Given the description of an element on the screen output the (x, y) to click on. 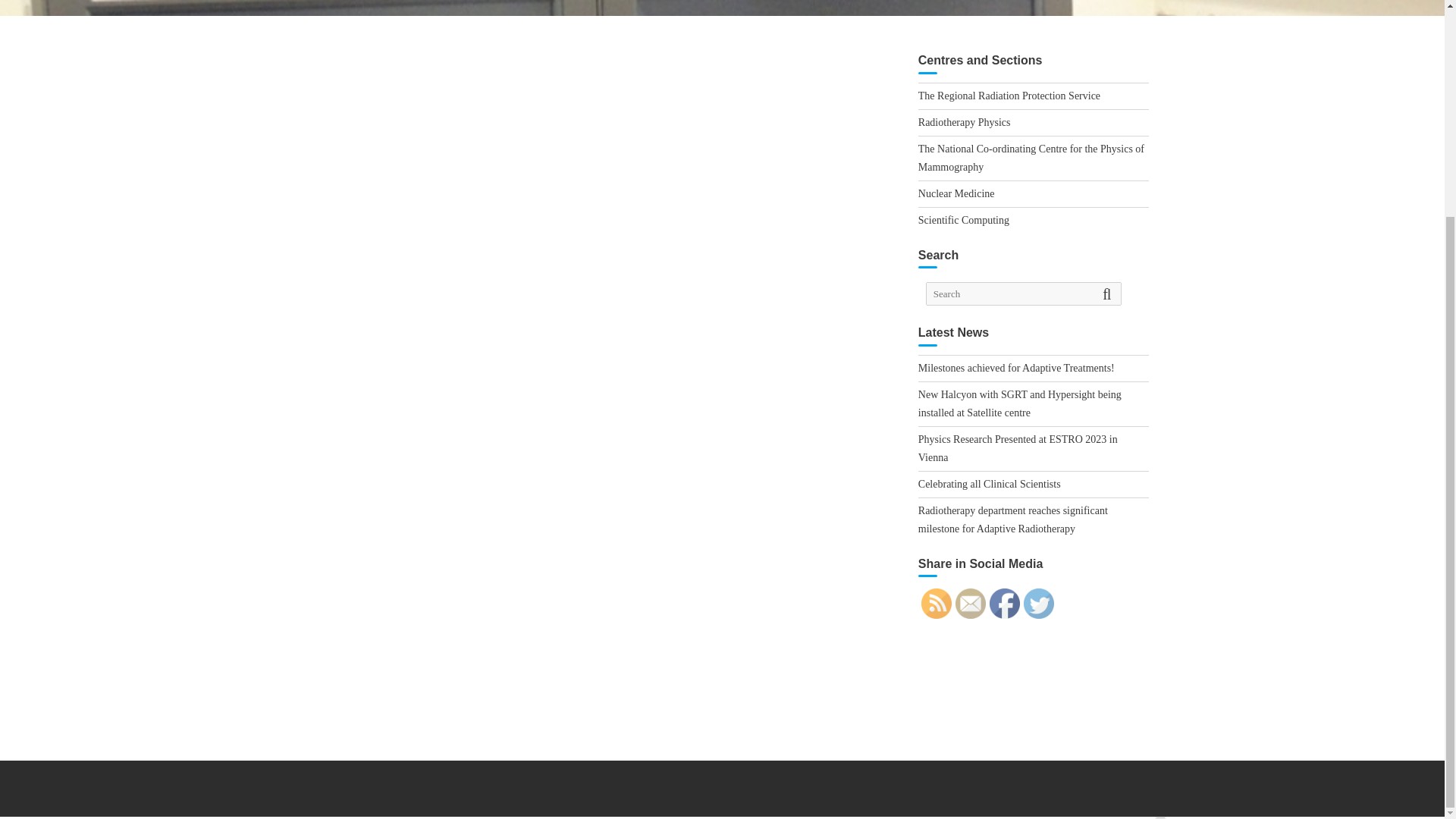
The Regional Radiation Protection Service (1009, 95)
RSS (936, 603)
Facebook (1005, 603)
Follow by Email (970, 603)
Nuclear Medicine (956, 193)
Milestones achieved for Adaptive Treatments! (1016, 367)
Celebrating all Clinical Scientists (989, 483)
Twitter (1038, 603)
